Given the description of an element on the screen output the (x, y) to click on. 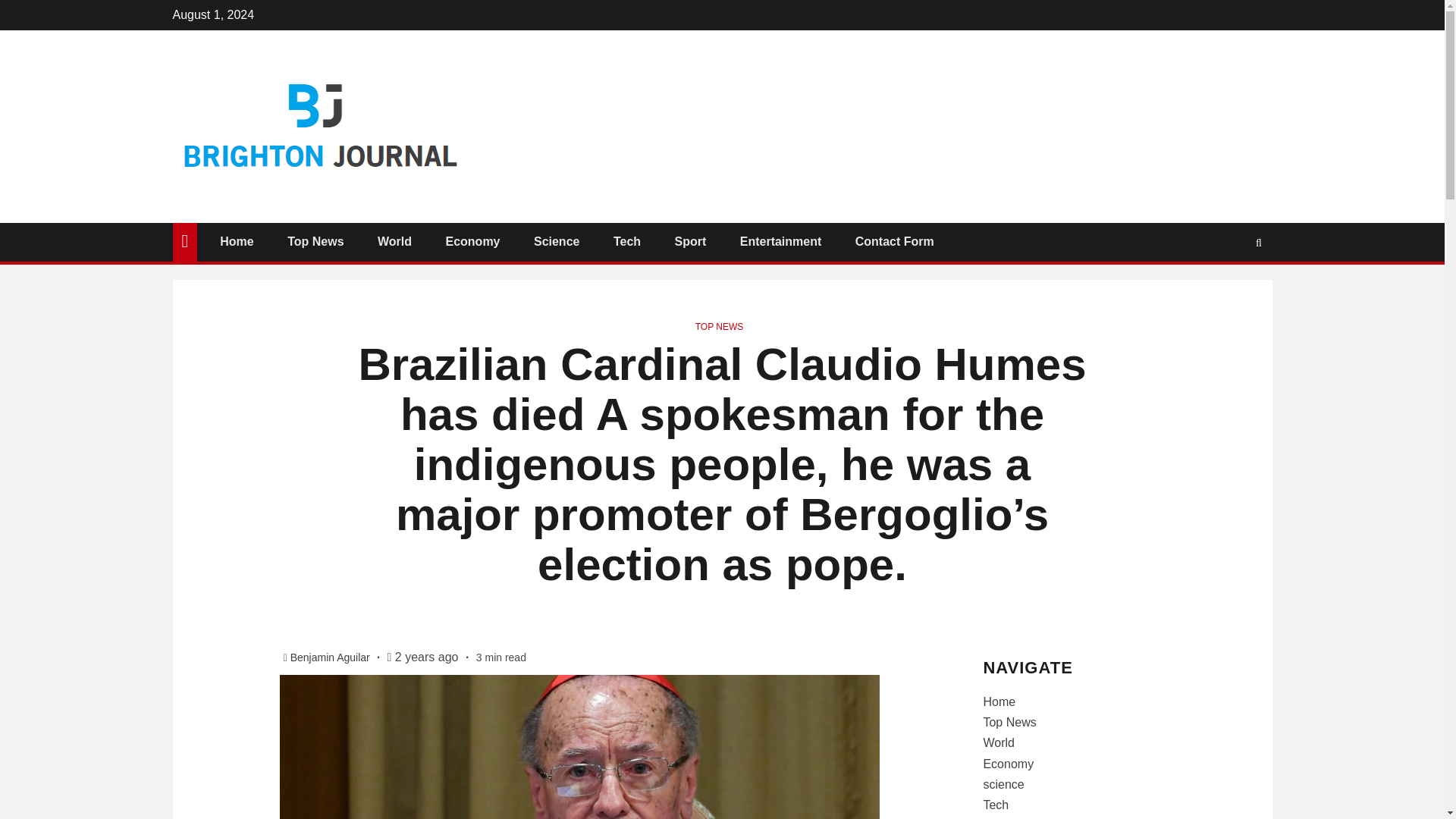
Economy (472, 241)
Sport (690, 241)
Entertainment (780, 241)
Tech (626, 241)
Science (556, 241)
Home (236, 241)
Search (1229, 287)
Top News (1008, 721)
World (998, 742)
Contact Form (895, 241)
Home (998, 701)
Economy (1007, 763)
World (394, 241)
Top News (314, 241)
Benjamin Aguilar (330, 657)
